Given the description of an element on the screen output the (x, y) to click on. 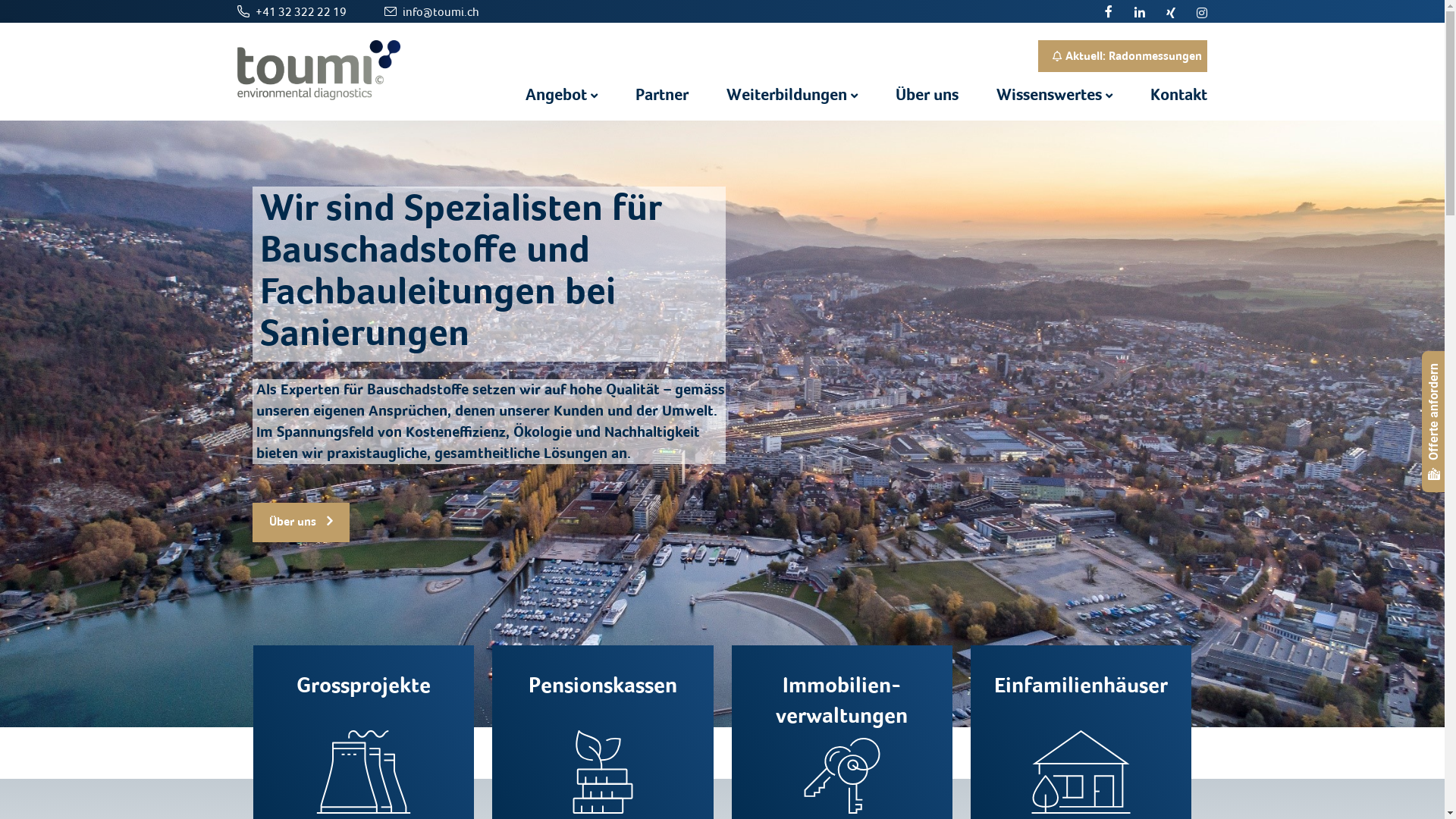
Aktuell: Radonmessungen Element type: text (1122, 56)
+41 32 322 22 19 Element type: text (299, 11)
Partner Element type: text (642, 94)
info@toumi.ch Element type: text (439, 11)
Wissenswertes Element type: text (1035, 94)
Angebot Element type: text (542, 94)
Weiterbildungen Element type: text (772, 94)
Kontakt Element type: text (1159, 94)
